Given the description of an element on the screen output the (x, y) to click on. 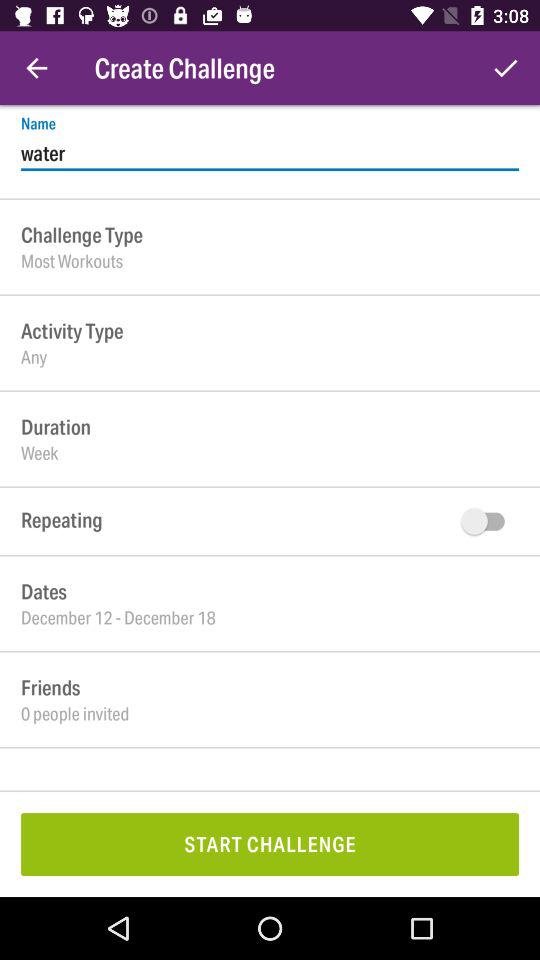
turn on/off repeat option (487, 521)
